Given the description of an element on the screen output the (x, y) to click on. 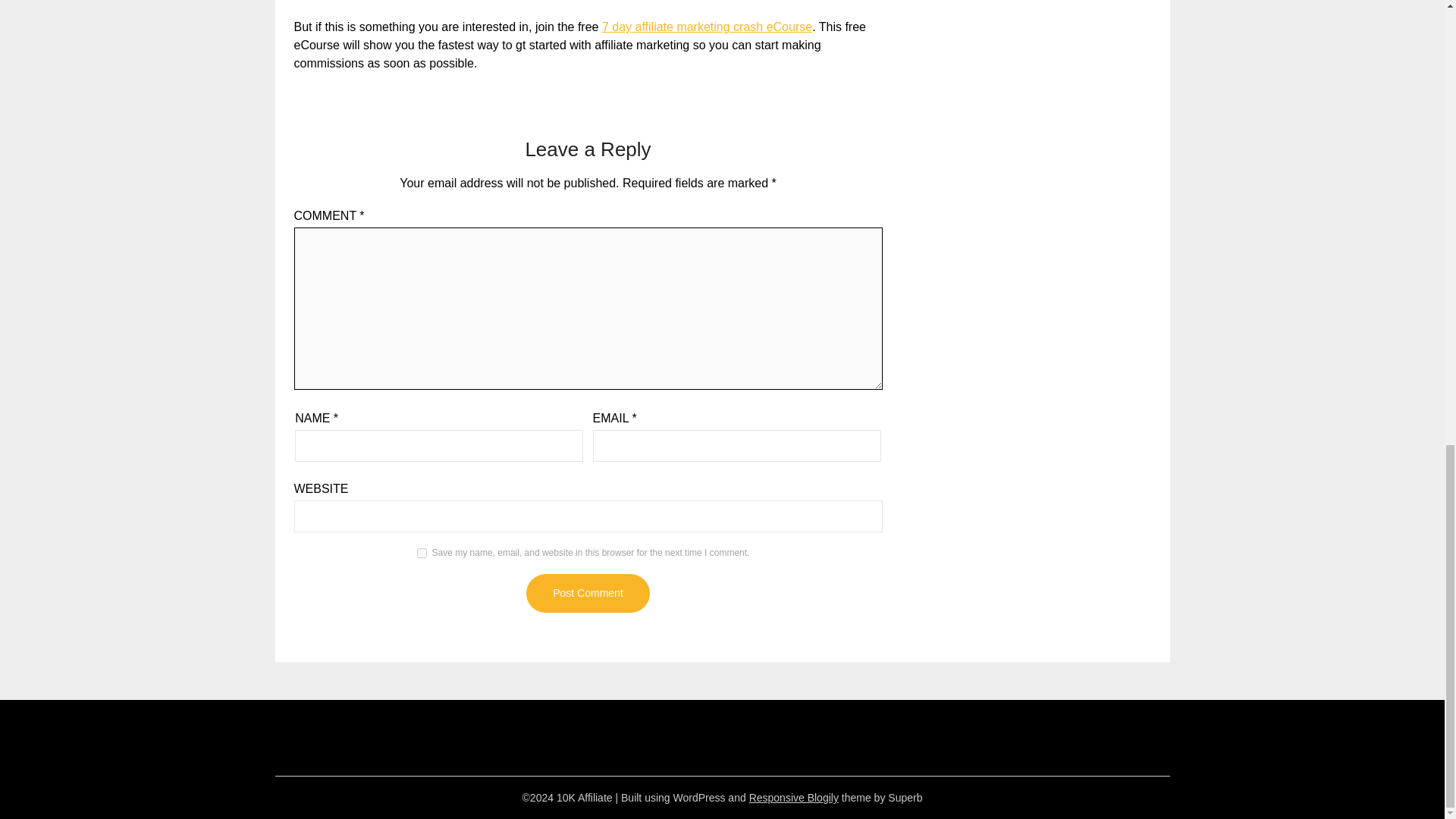
Post Comment (587, 593)
7 day affiliate marketing crash eCourse (707, 26)
Responsive Blogily (793, 797)
Post Comment (587, 593)
yes (421, 552)
